Given the description of an element on the screen output the (x, y) to click on. 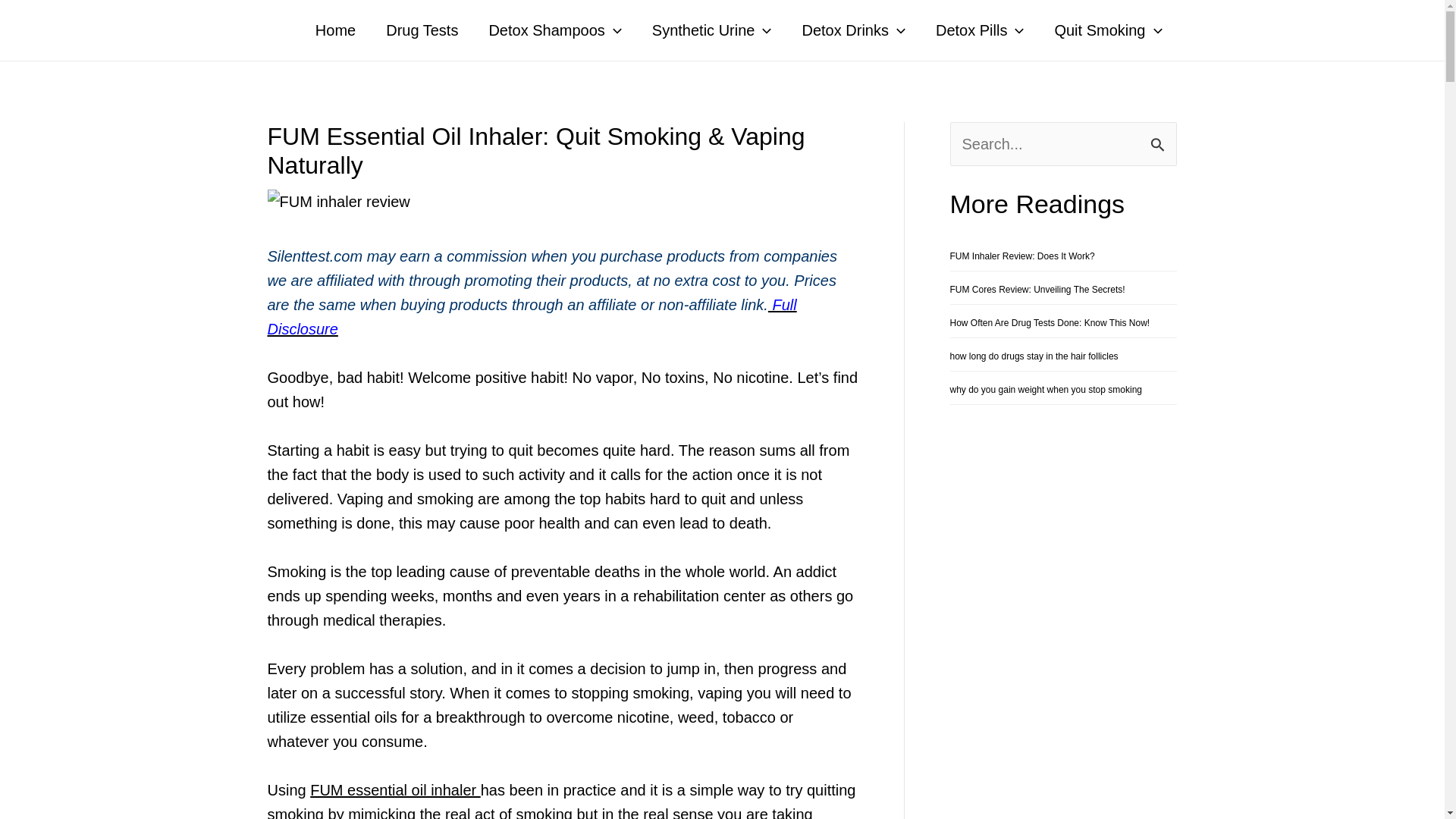
Synthetic Urine (712, 30)
Search (1158, 139)
Home (335, 30)
Drug Tests (422, 30)
Quit Smoking (1107, 30)
Detox Drinks (853, 30)
Detox Shampoos (554, 30)
Detox Pills (979, 30)
Search (1158, 139)
